Given the description of an element on the screen output the (x, y) to click on. 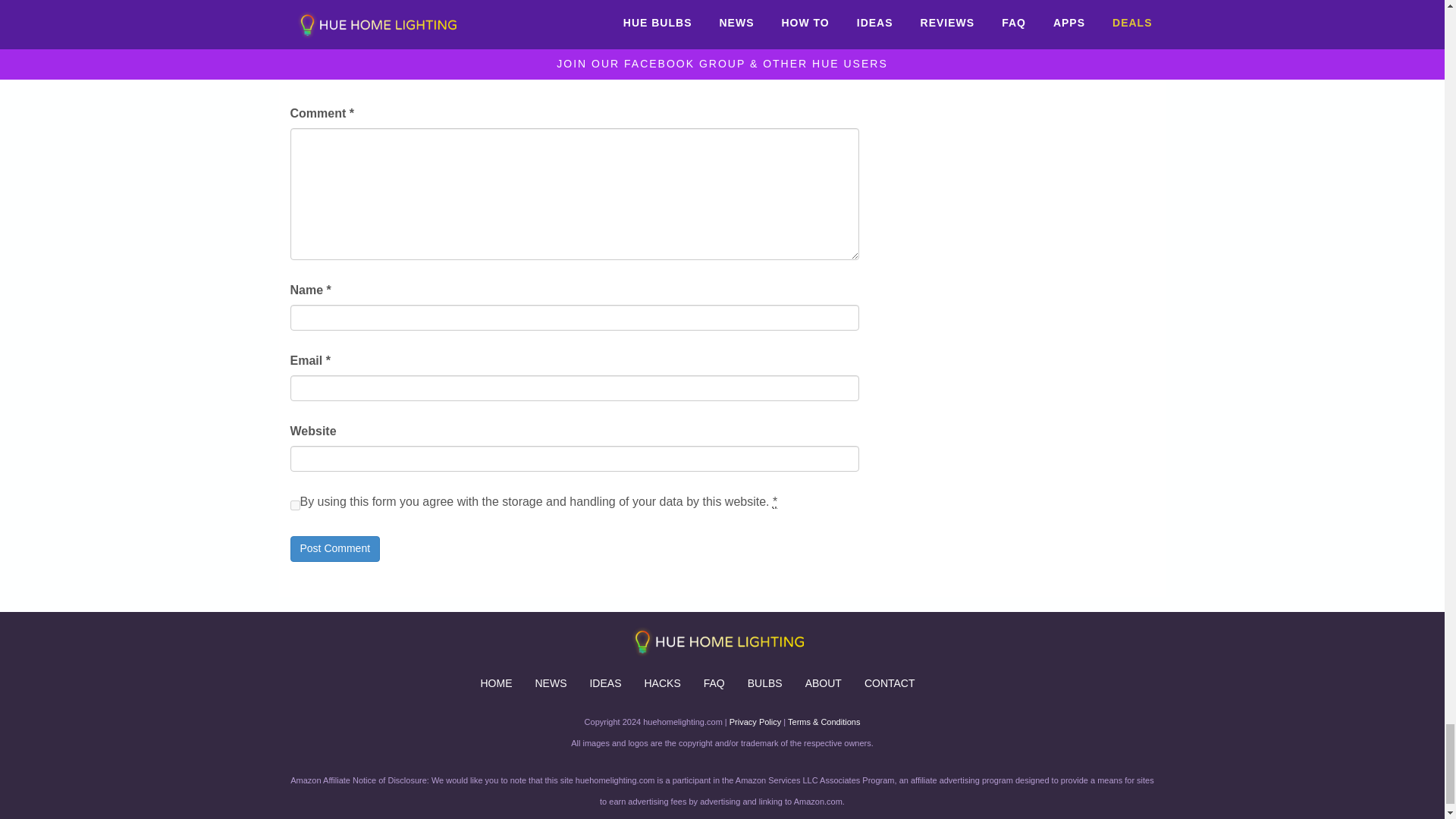
Post Comment (334, 548)
Post Comment (334, 548)
HOME (495, 682)
HACKS (661, 682)
IDEAS (604, 682)
NEWS (550, 682)
